Given the description of an element on the screen output the (x, y) to click on. 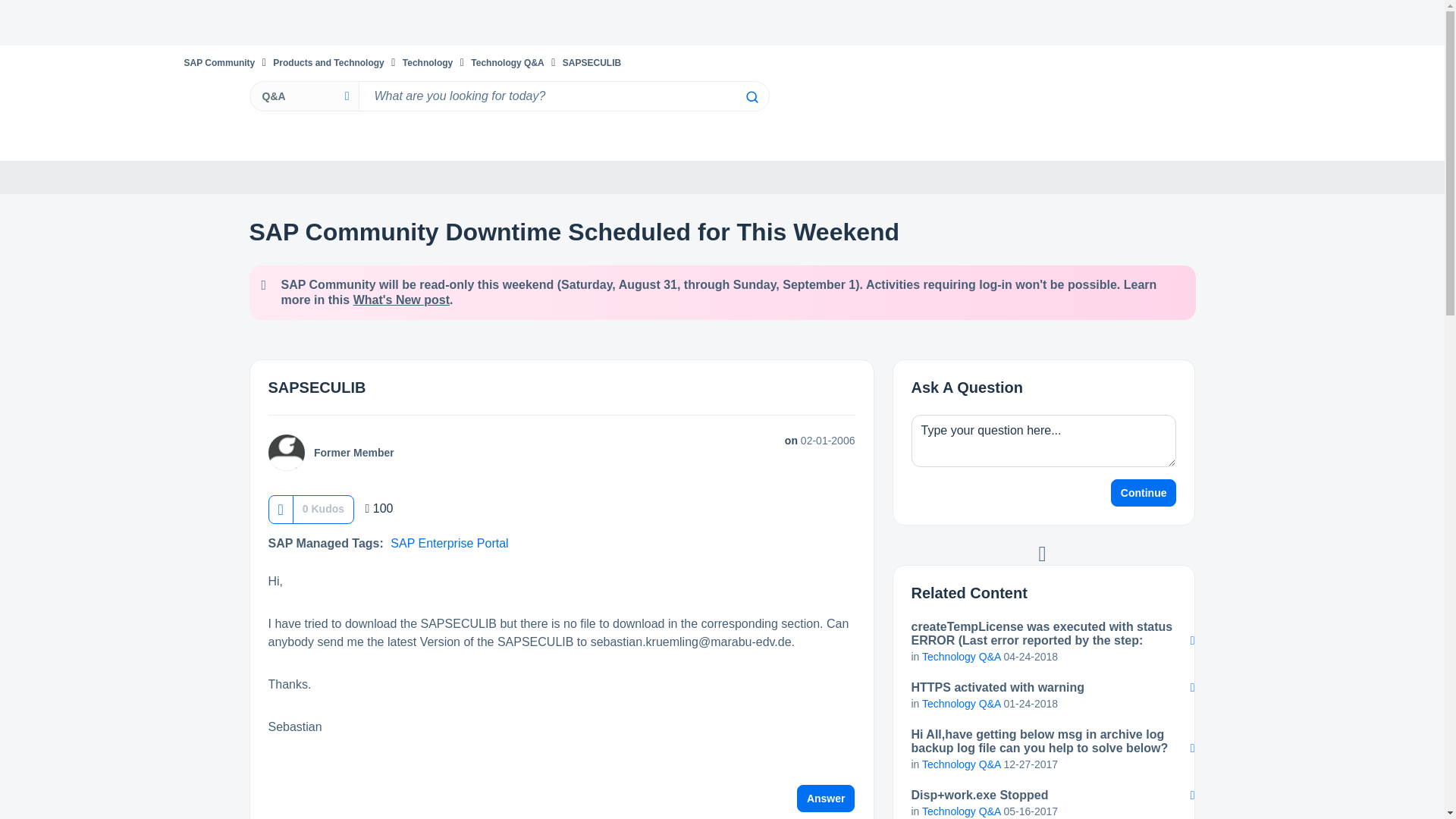
Click here to give kudos to this post. (279, 509)
Search (750, 96)
SAP Enterprise Portal (449, 543)
What's New post (401, 299)
The total number of kudos this post has received. (323, 508)
Products and Technology (328, 62)
Continue (1143, 492)
SAP Community (218, 62)
Continue (1143, 492)
Search Granularity (303, 96)
